Given the description of an element on the screen output the (x, y) to click on. 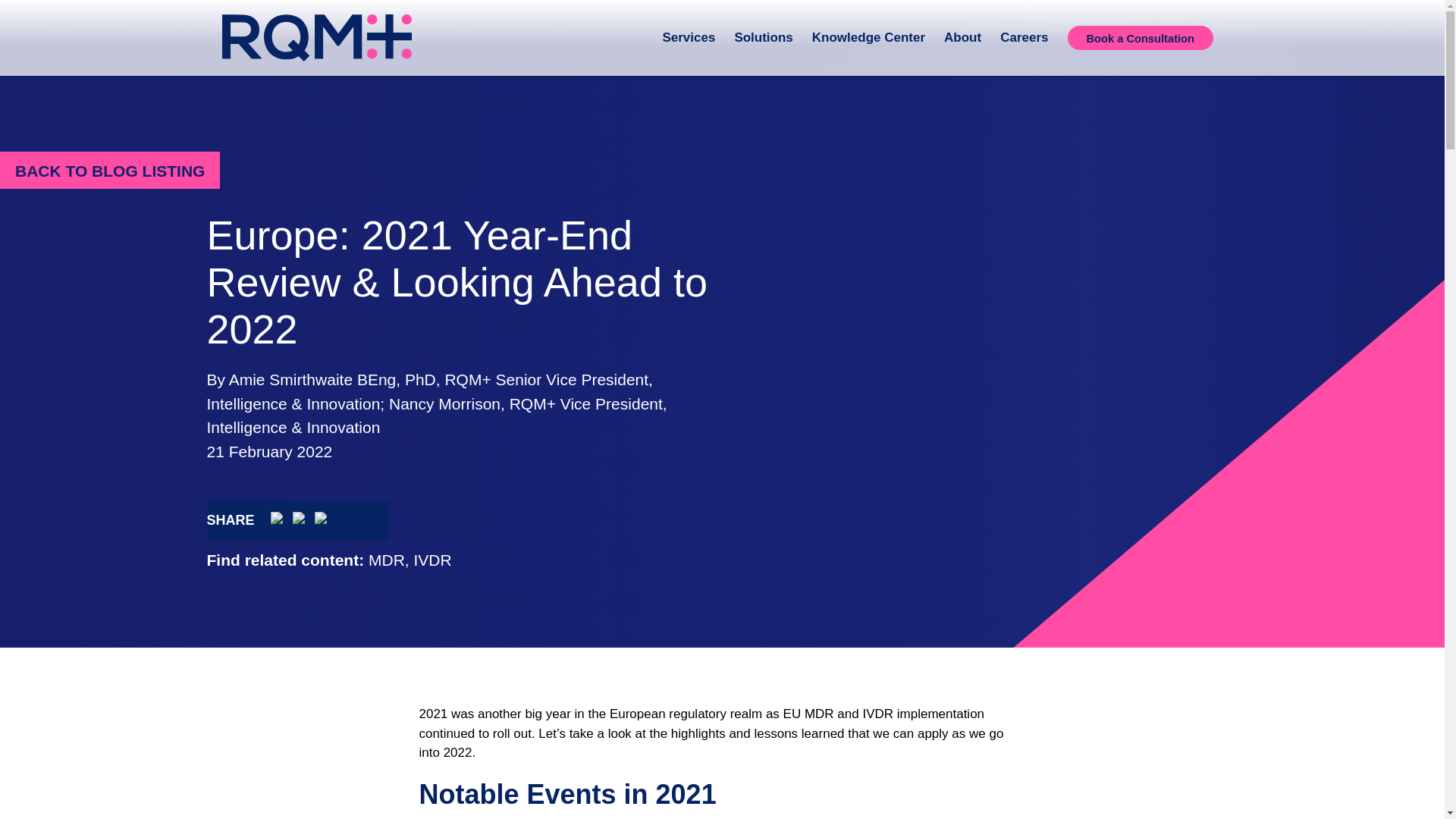
Services (690, 37)
Knowledge Center (870, 37)
Solutions (764, 37)
logo (315, 38)
